Given the description of an element on the screen output the (x, y) to click on. 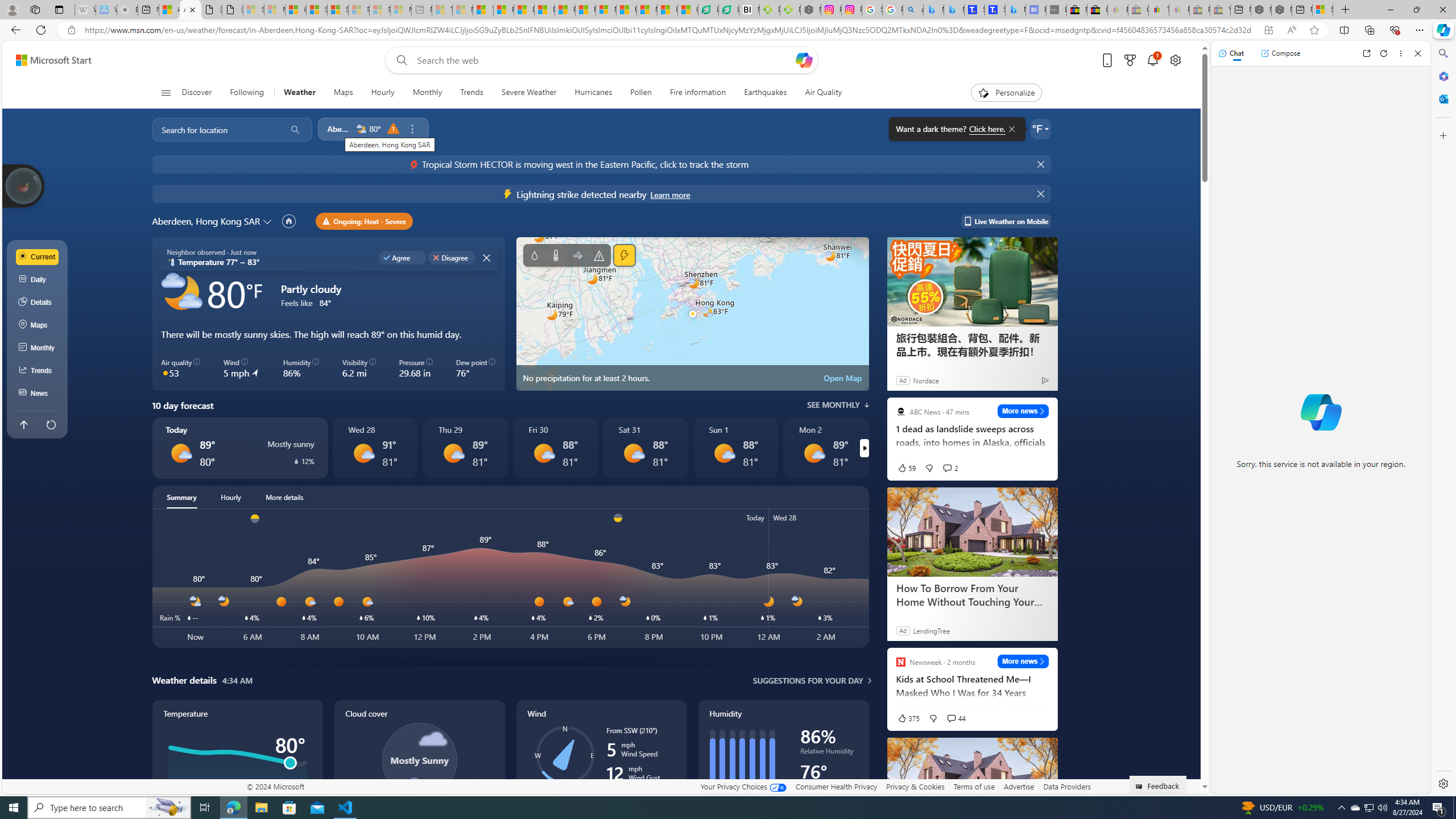
Maps (343, 92)
Open settings (1175, 60)
Advertise (1019, 786)
Monthly (427, 92)
Weather (299, 92)
More news (1022, 661)
Lightning (623, 254)
Mostly sunny (813, 453)
